Given the description of an element on the screen output the (x, y) to click on. 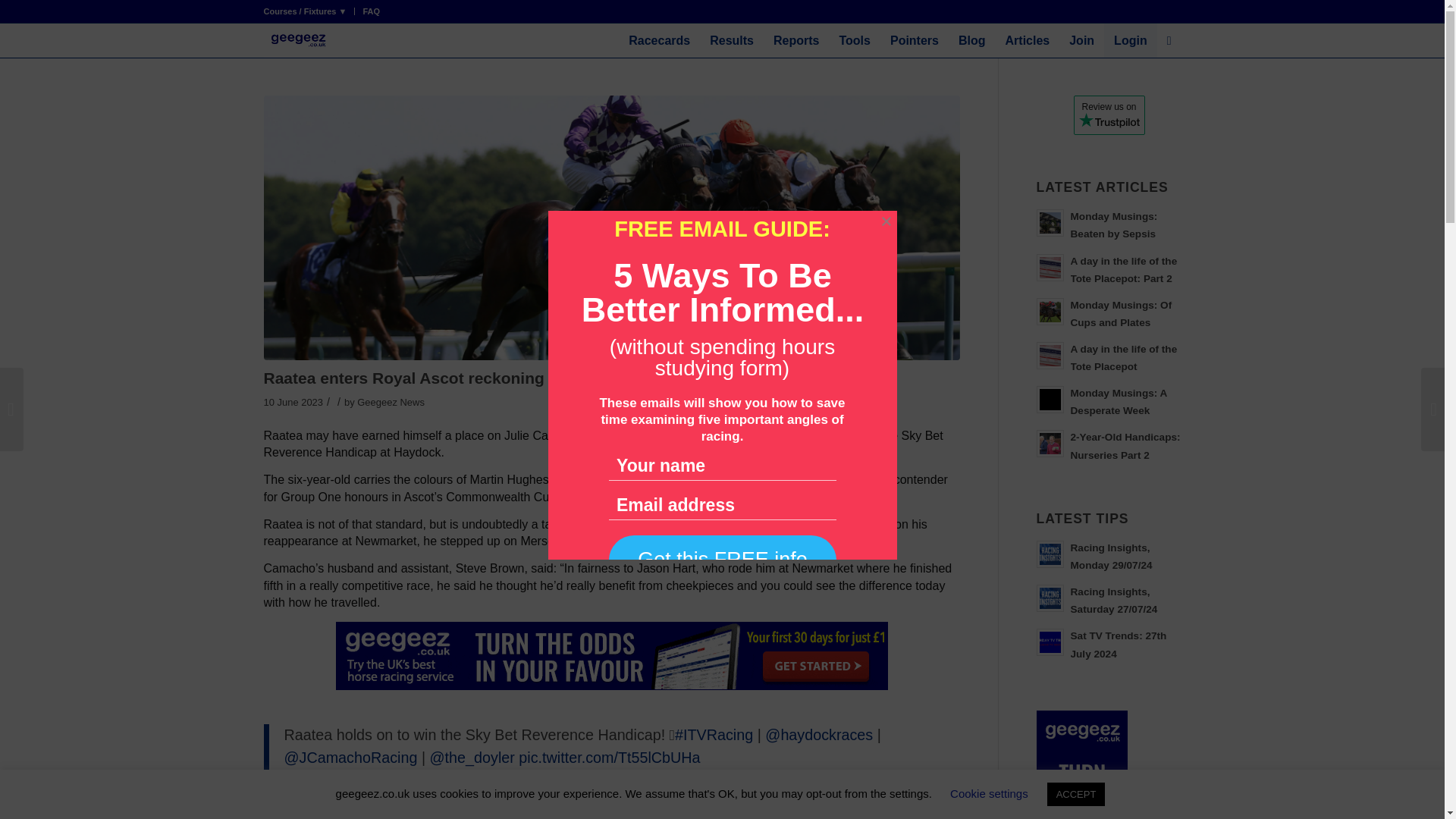
Join (1081, 40)
Tools (853, 40)
Results (731, 40)
Login (1130, 40)
Posts by Geegeez News (390, 401)
Racecards (659, 40)
Blog (972, 40)
Reports (795, 40)
Articles (1027, 40)
Pointers (914, 40)
Login (1130, 40)
